Given the description of an element on the screen output the (x, y) to click on. 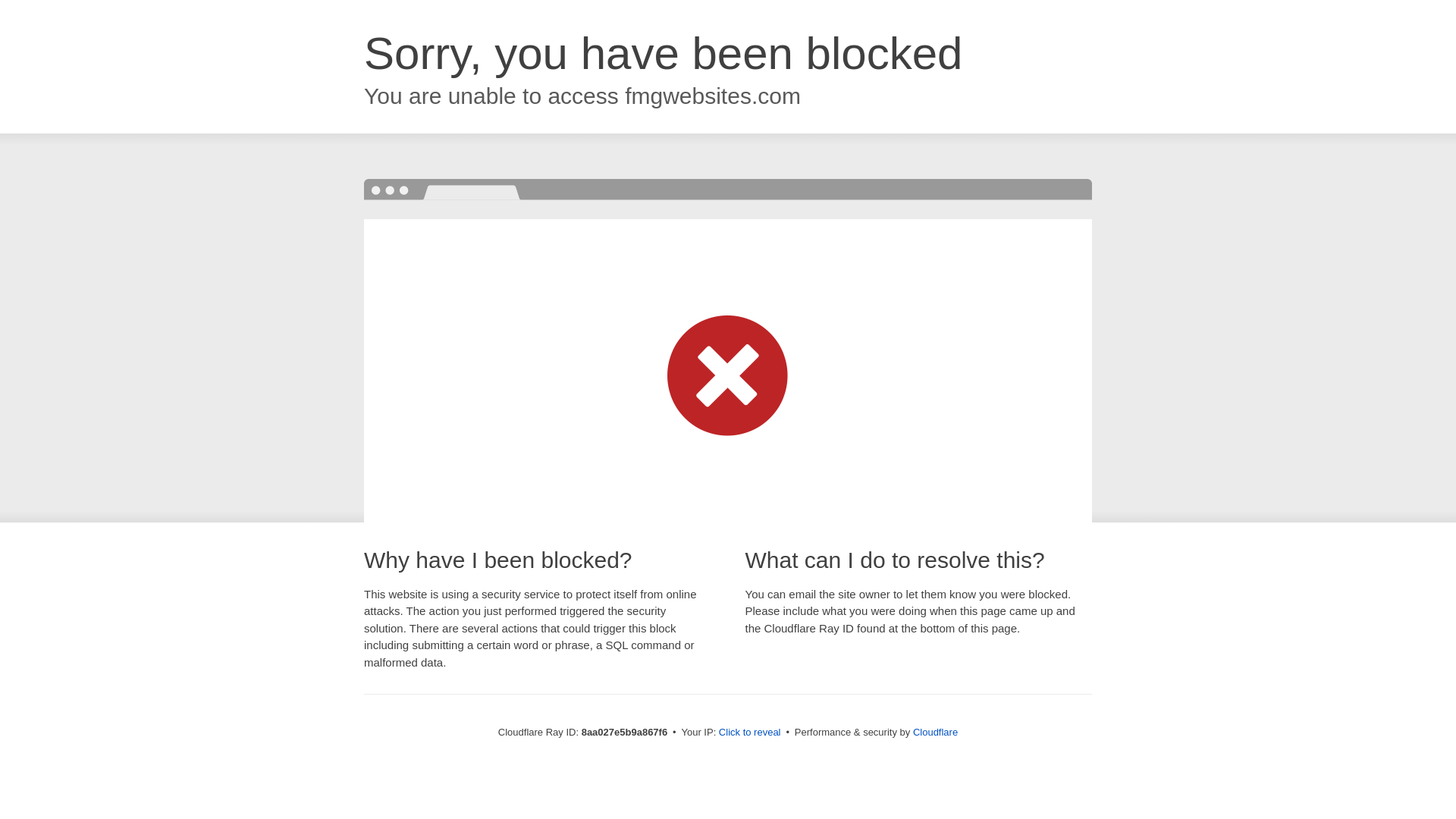
Cloudflare (935, 731)
Click to reveal (749, 732)
